Given the description of an element on the screen output the (x, y) to click on. 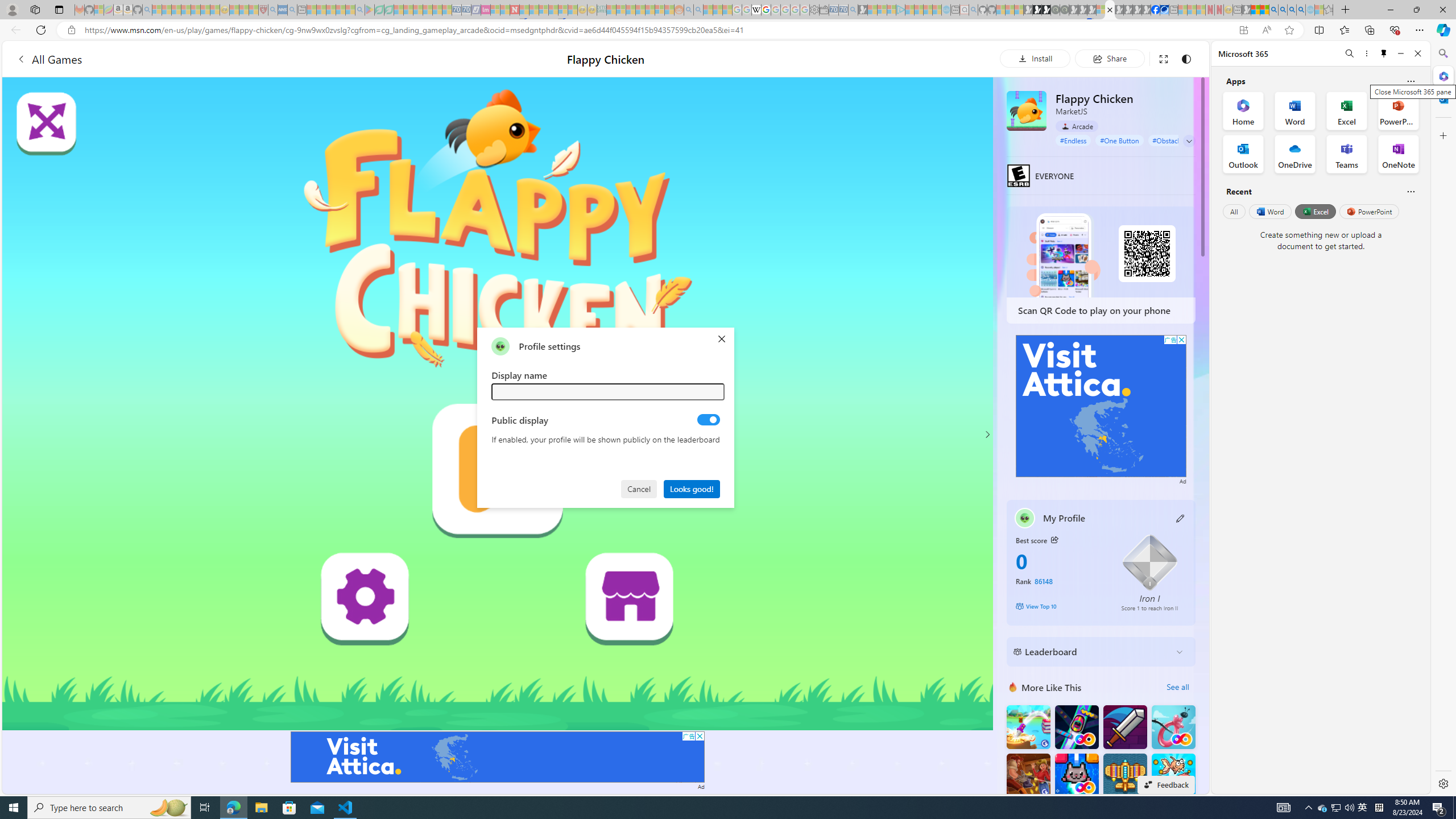
Terms of Use Agreement - Sleeping (378, 9)
Fish Merge FRVR (1173, 775)
Class: control (1188, 140)
MSN - Sleeping (1246, 9)
